Given the description of an element on the screen output the (x, y) to click on. 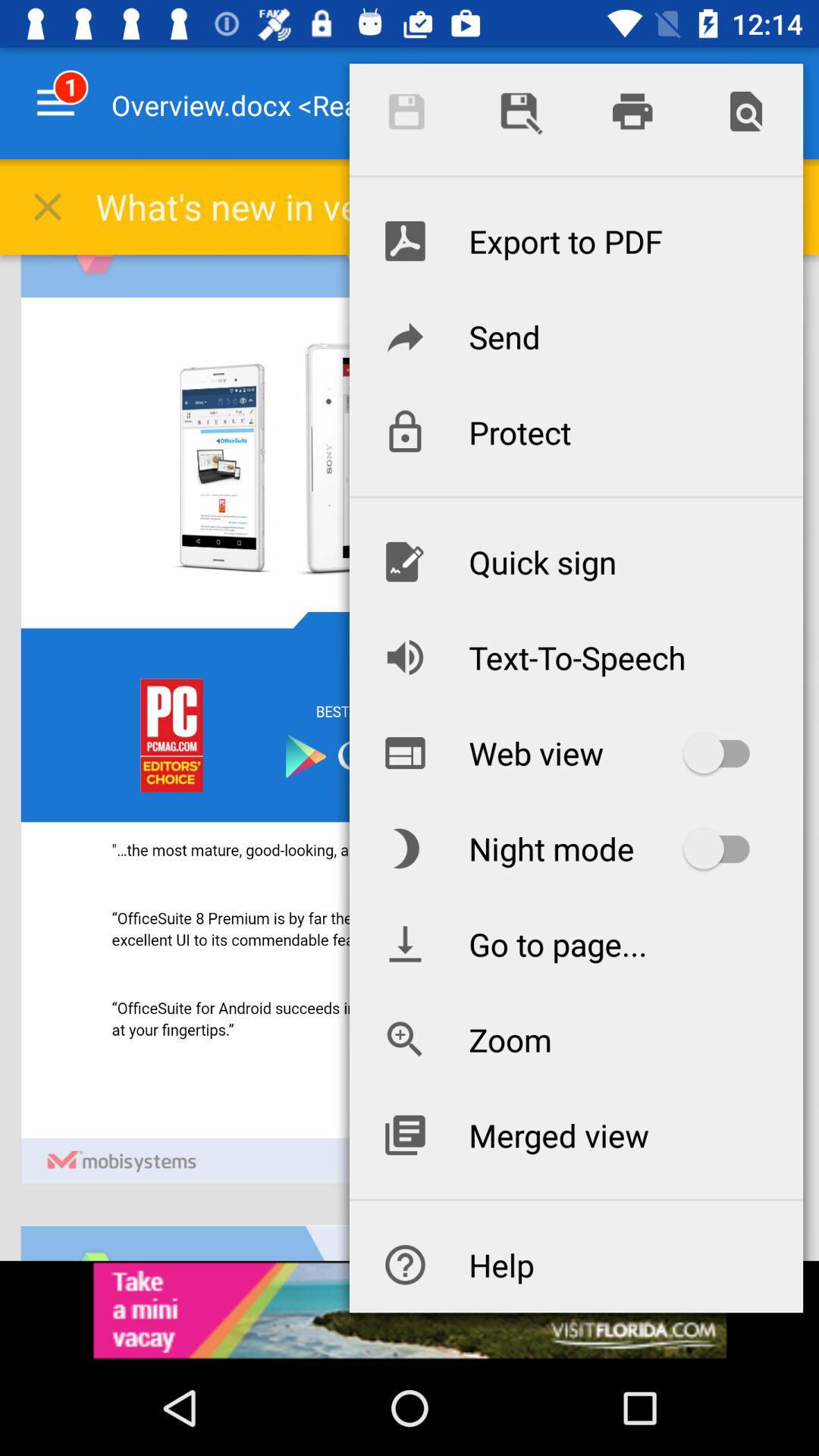
select icon above merged view item (576, 1039)
